Given the description of an element on the screen output the (x, y) to click on. 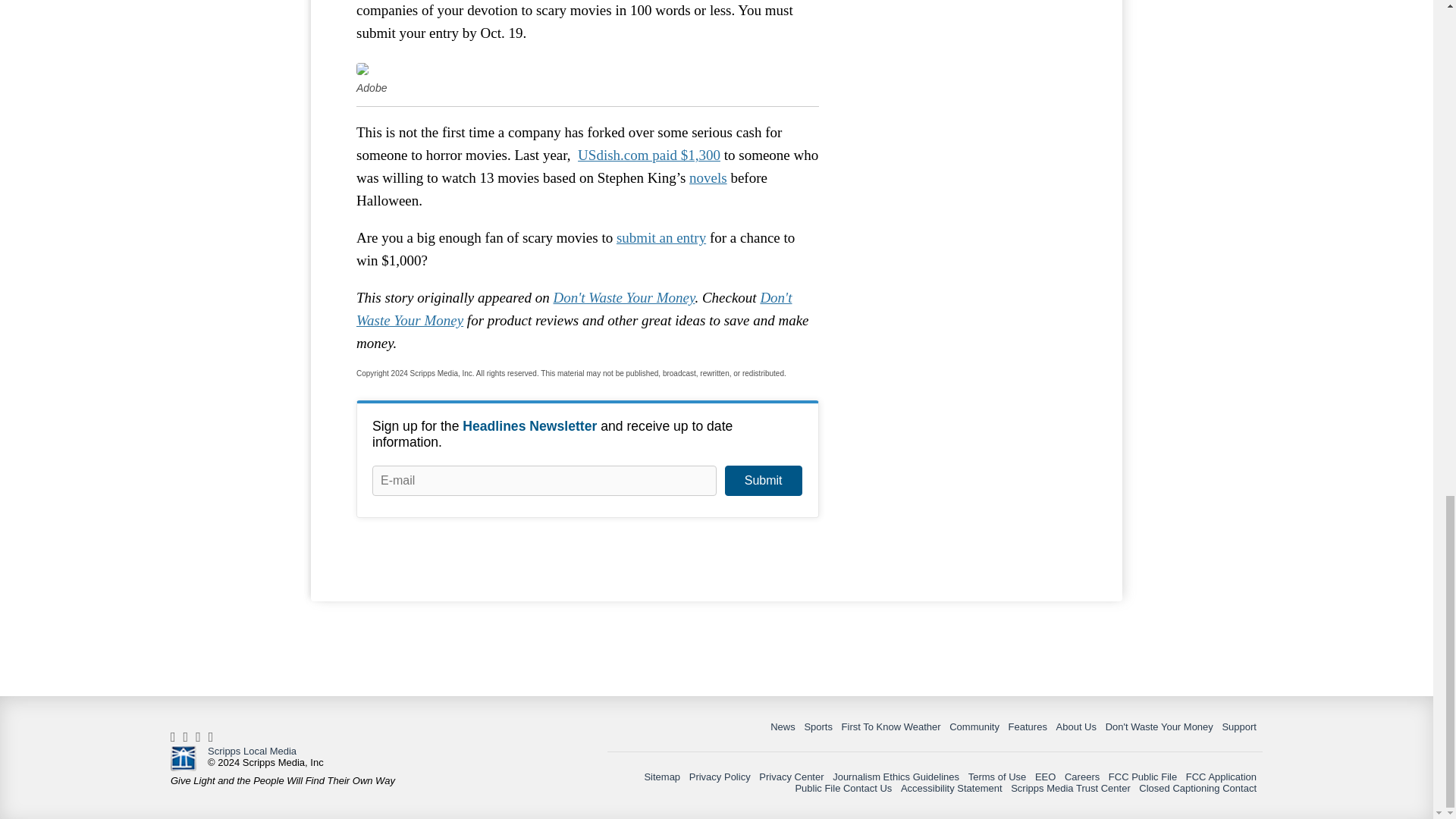
Submit (763, 481)
